Given the description of an element on the screen output the (x, y) to click on. 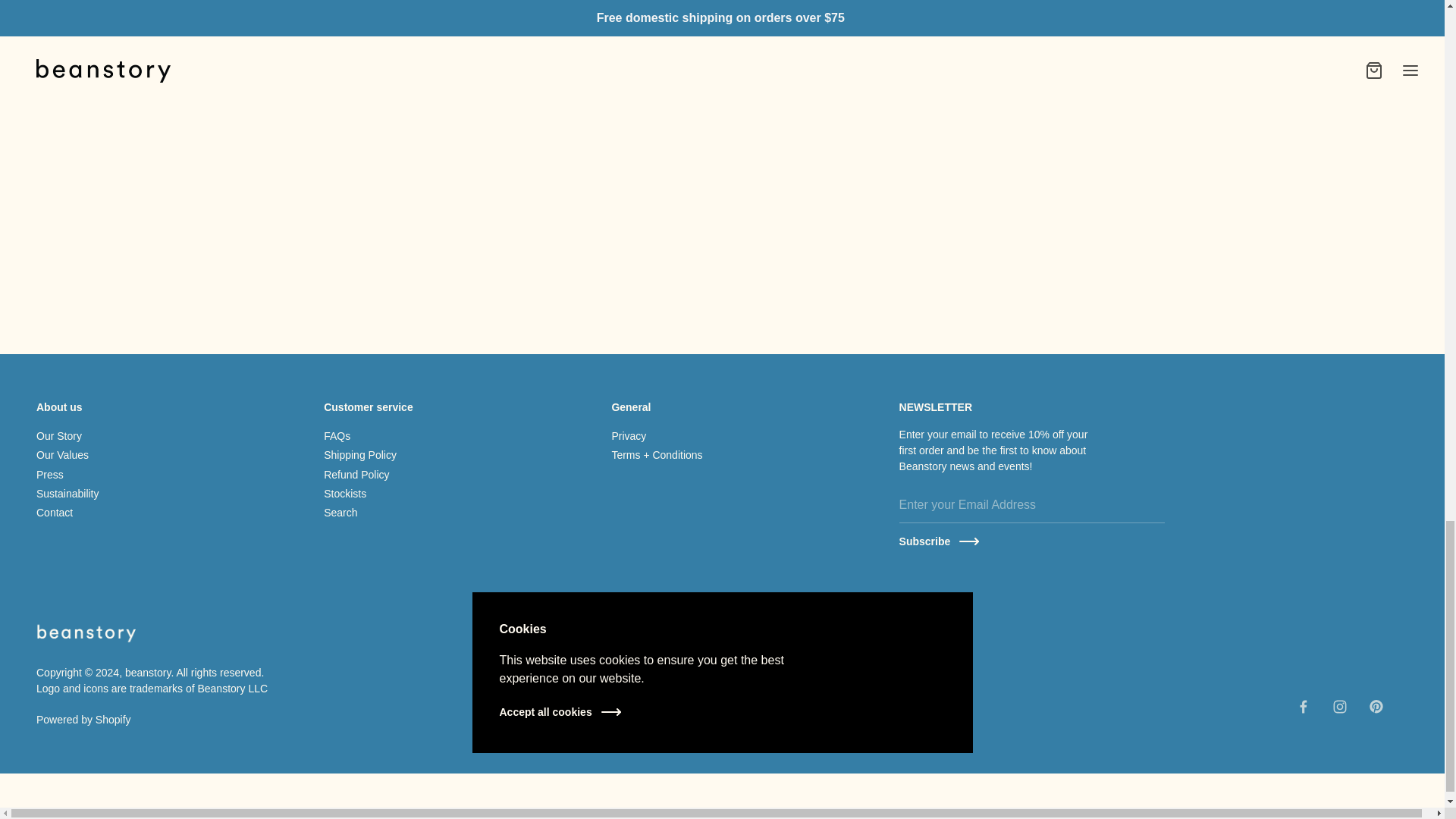
Contact (54, 513)
Sustainability (67, 494)
Shipping Policy (359, 456)
Our Story (58, 437)
Stockists (344, 494)
Search (339, 513)
FAQs (336, 437)
Our Values (62, 456)
Refund Policy (355, 475)
Press (50, 475)
